Given the description of an element on the screen output the (x, y) to click on. 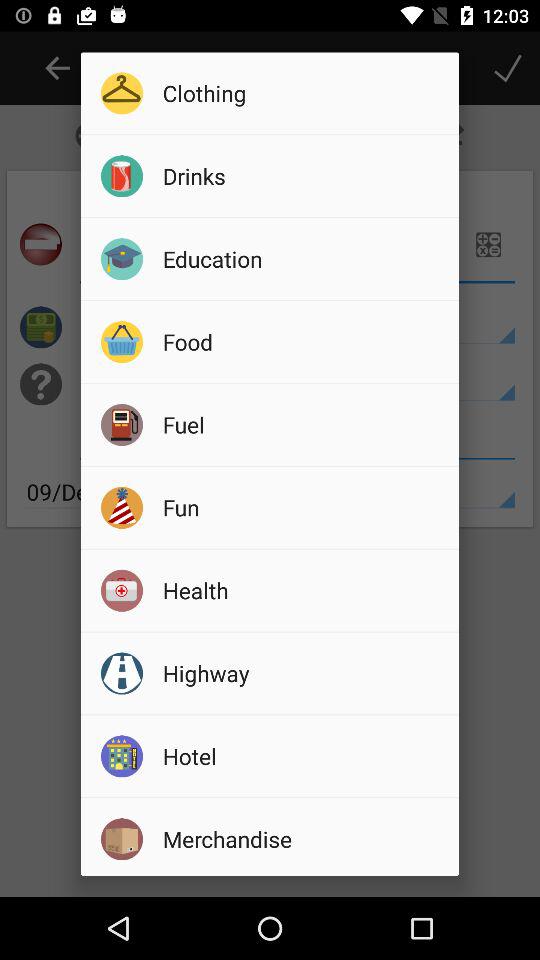
swipe to hotel (303, 756)
